Given the description of an element on the screen output the (x, y) to click on. 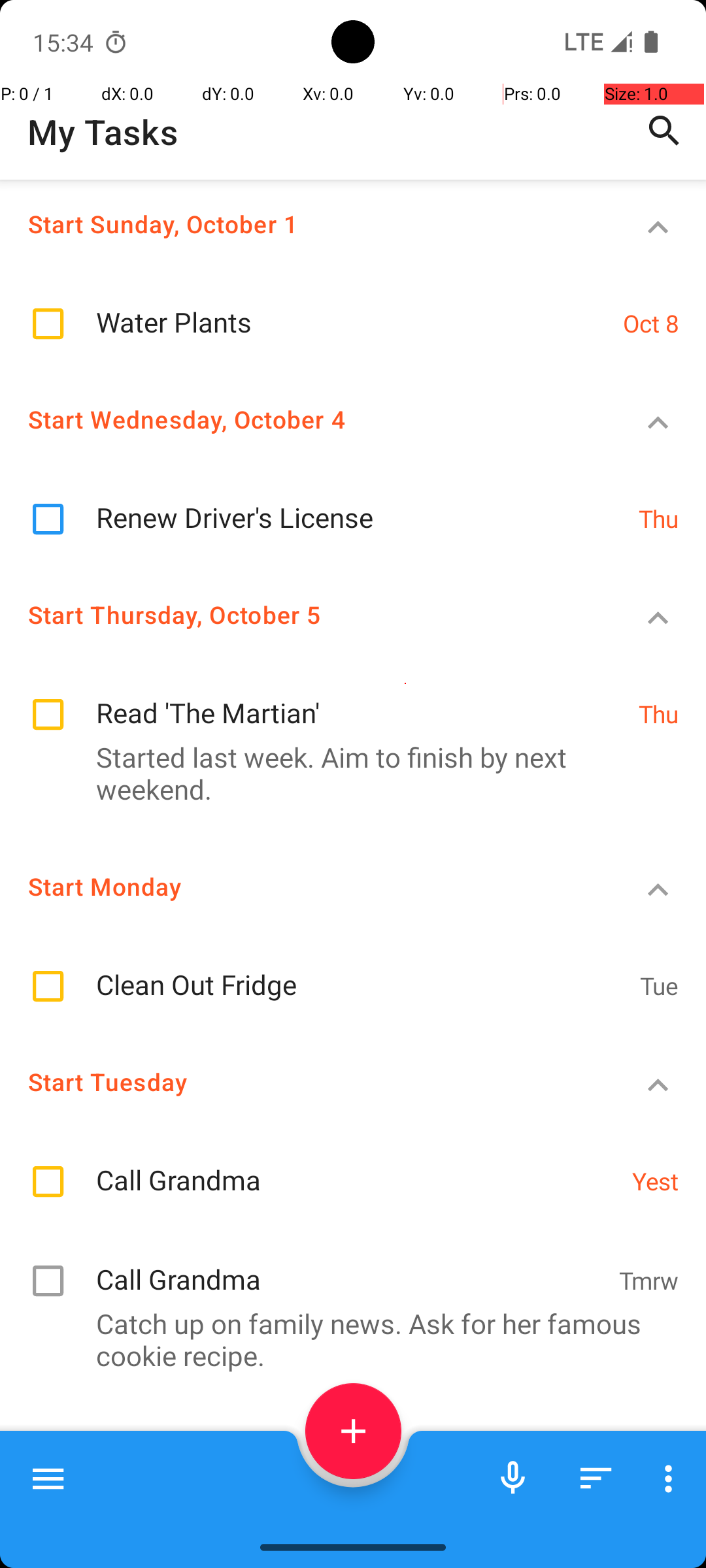
Start Sunday, October 1 Element type: android.widget.TextView (304, 223)
Start Wednesday, October 4 Element type: android.widget.TextView (304, 419)
Start Thursday, October 5 Element type: android.widget.TextView (304, 614)
Start Monday Element type: android.widget.TextView (304, 886)
Start Tuesday Element type: android.widget.TextView (304, 1081)
Start Thursday Element type: android.widget.TextView (304, 1516)
Catch up on family news. Ask for her famous cookie recipe. Element type: android.widget.TextView (346, 1338)
